Given the description of an element on the screen output the (x, y) to click on. 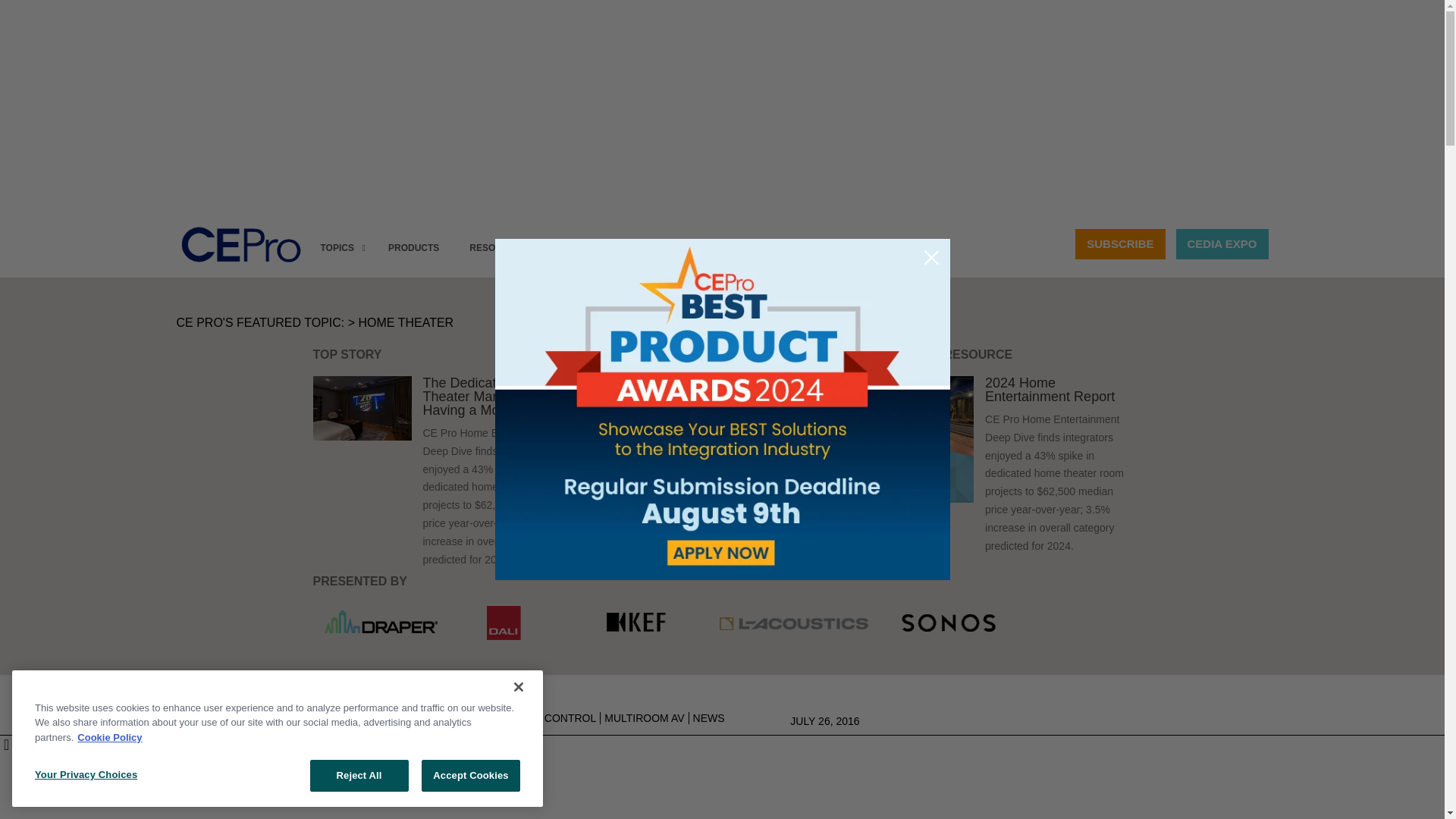
TOPICS (338, 248)
